Given the description of an element on the screen output the (x, y) to click on. 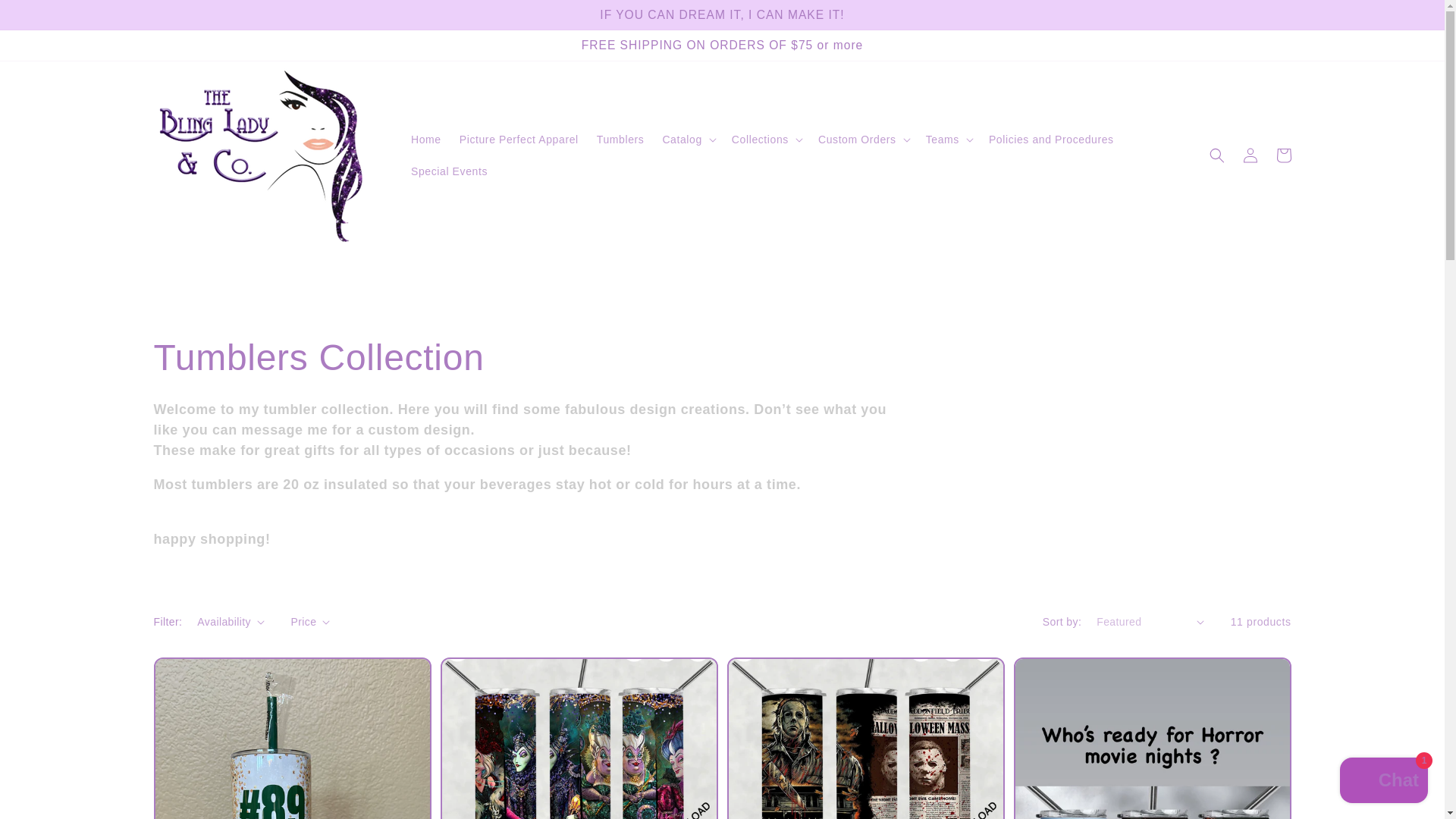
Tumblers (620, 139)
Shopify online store chat (1383, 781)
Skip to content (46, 18)
Picture Perfect Apparel (518, 139)
Home (425, 139)
